Given the description of an element on the screen output the (x, y) to click on. 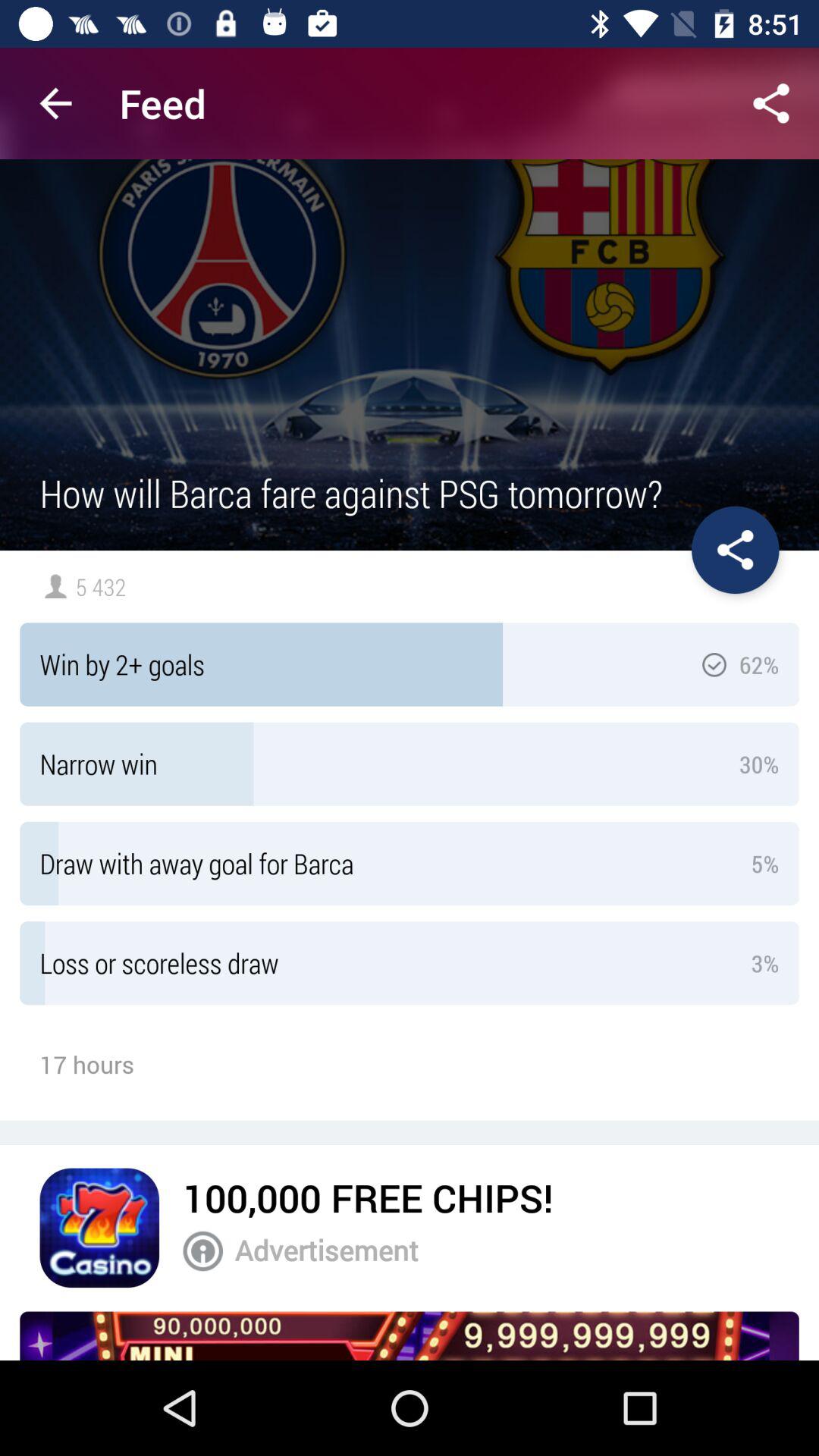
open app to the left of feed (55, 103)
